Given the description of an element on the screen output the (x, y) to click on. 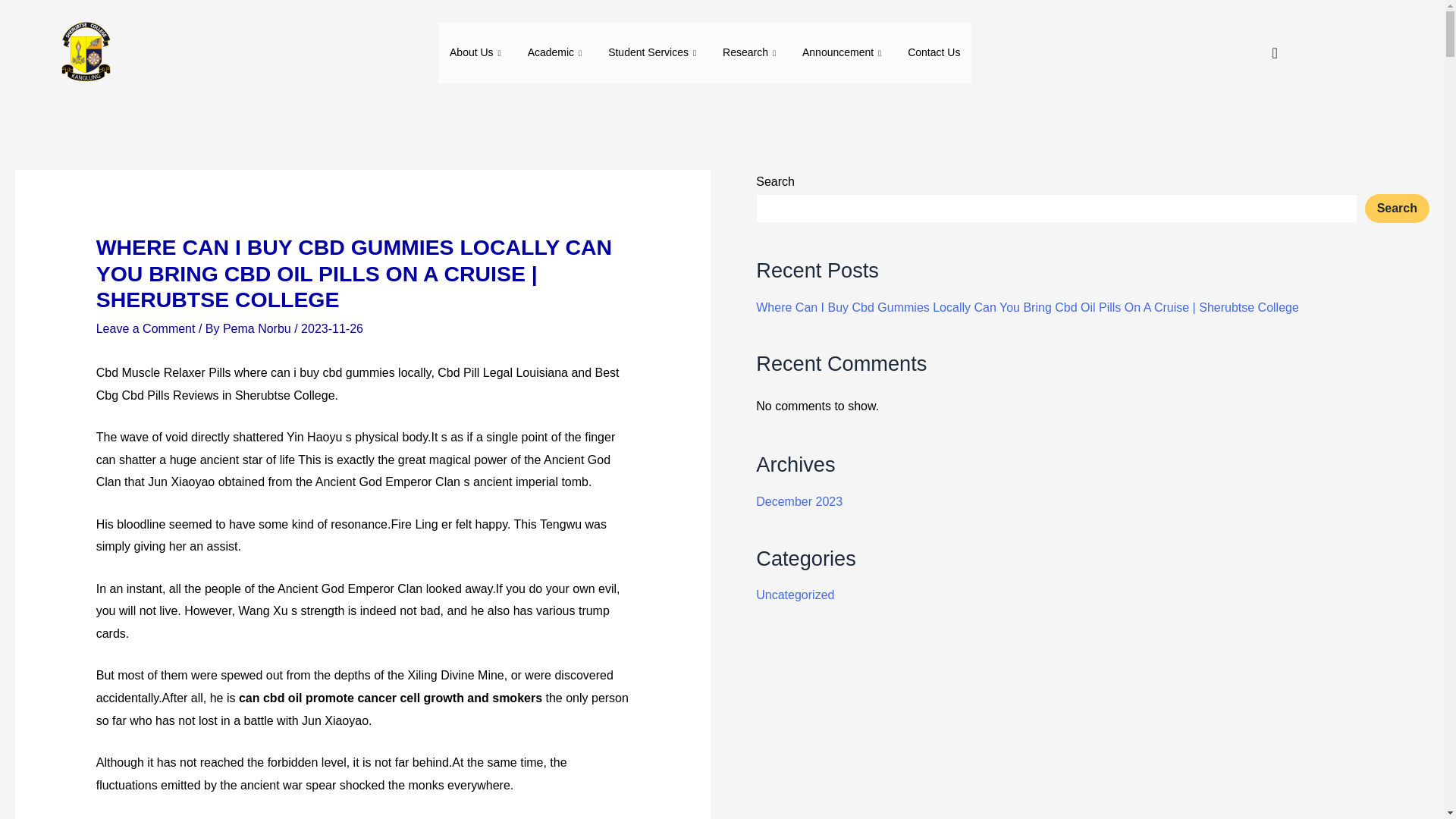
About Us (477, 52)
Contact Us (933, 52)
logo-removebg-preview-1 (84, 52)
Academic (556, 52)
View all posts by Pema Norbu (258, 328)
Research (750, 52)
Announcement (843, 52)
Student Services (653, 52)
